Given the description of an element on the screen output the (x, y) to click on. 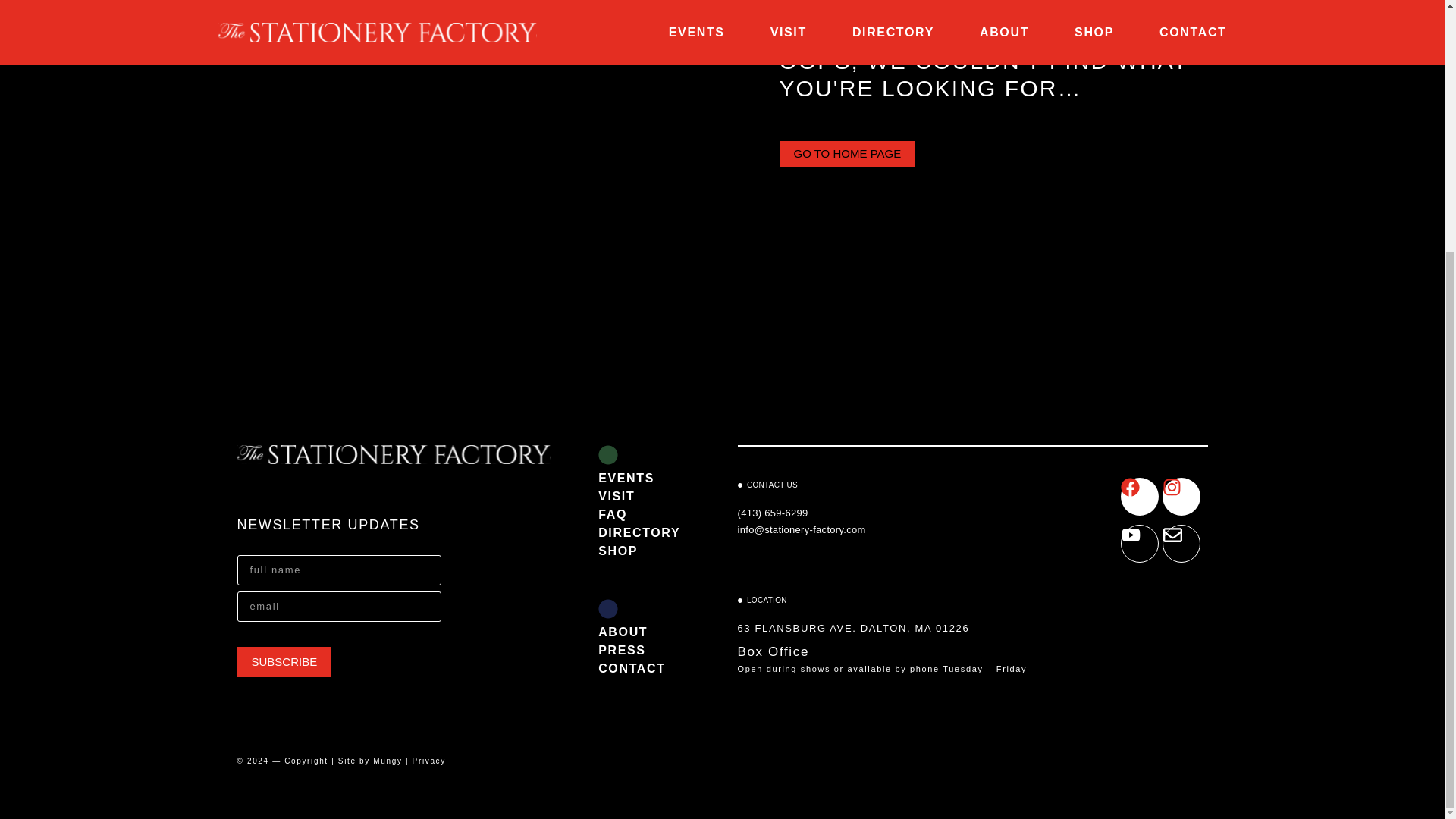
FAQ (643, 514)
EVENTS (643, 478)
VISIT (643, 496)
GO TO HOME PAGE (846, 153)
DIRECTORY (643, 532)
SHOP (643, 550)
ABOUT (643, 632)
SUBSCRIBE (283, 662)
